Given the description of an element on the screen output the (x, y) to click on. 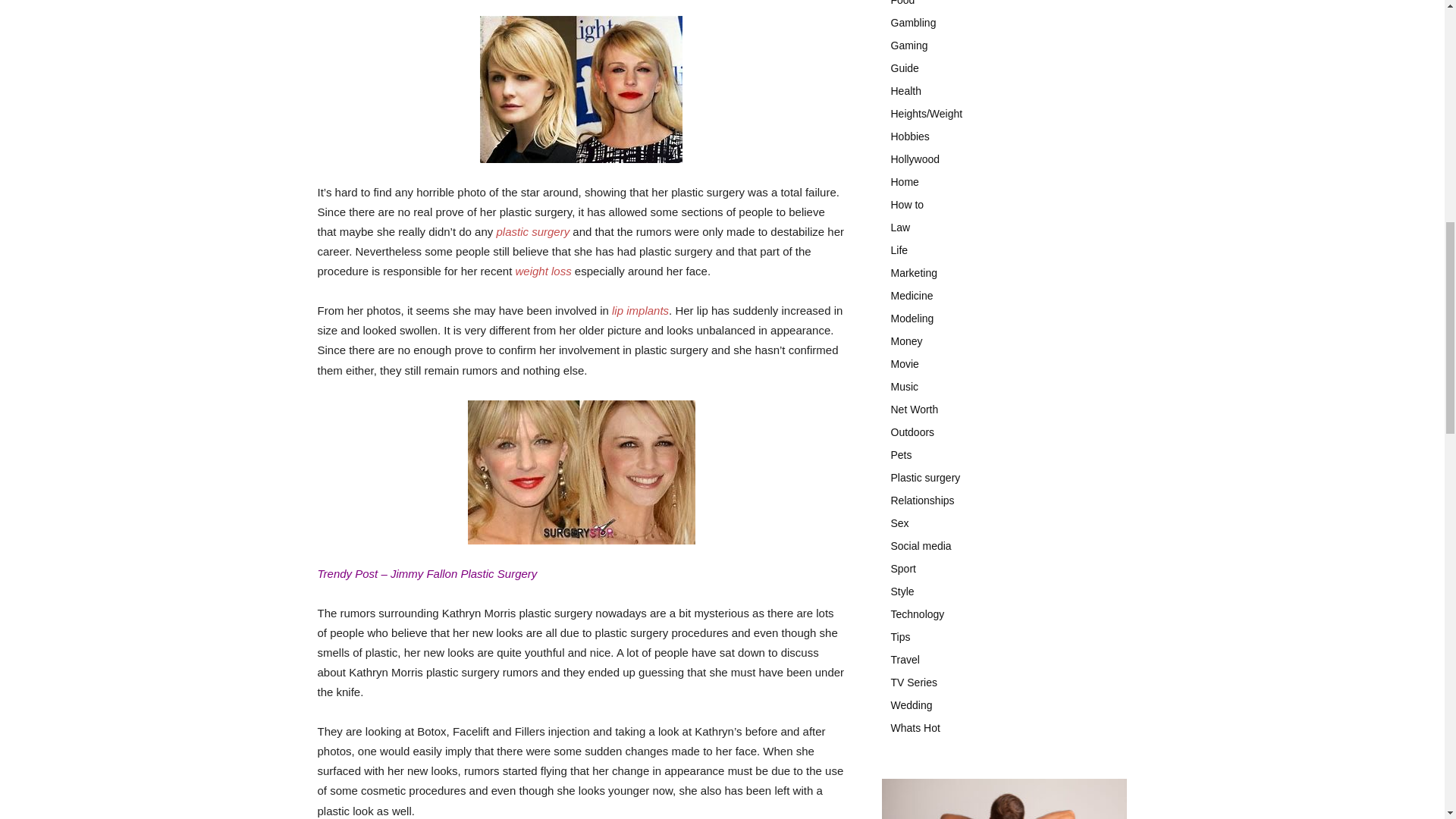
Techniques for Relieving Upper Back and Neck Pain (1003, 798)
